Given the description of an element on the screen output the (x, y) to click on. 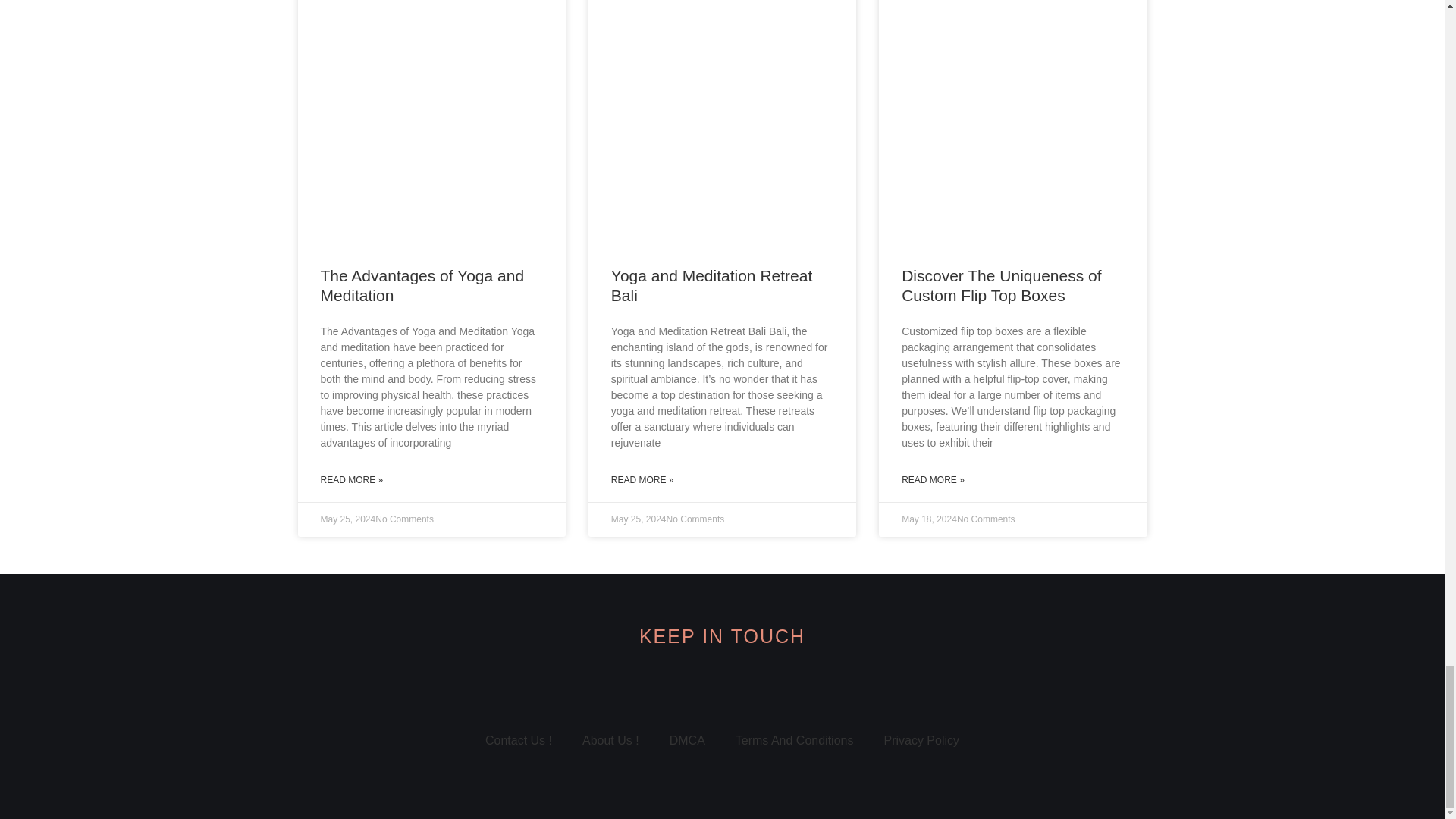
Terms And Conditions (794, 740)
DMCA (686, 740)
Load More (722, 551)
Contact Us ! (518, 740)
Discover The Uniqueness of Custom Flip Top Boxes (1000, 284)
The Advantages of Yoga and Meditation (422, 284)
About Us ! (610, 740)
Yoga and Meditation Retreat Bali (711, 284)
